Given the description of an element on the screen output the (x, y) to click on. 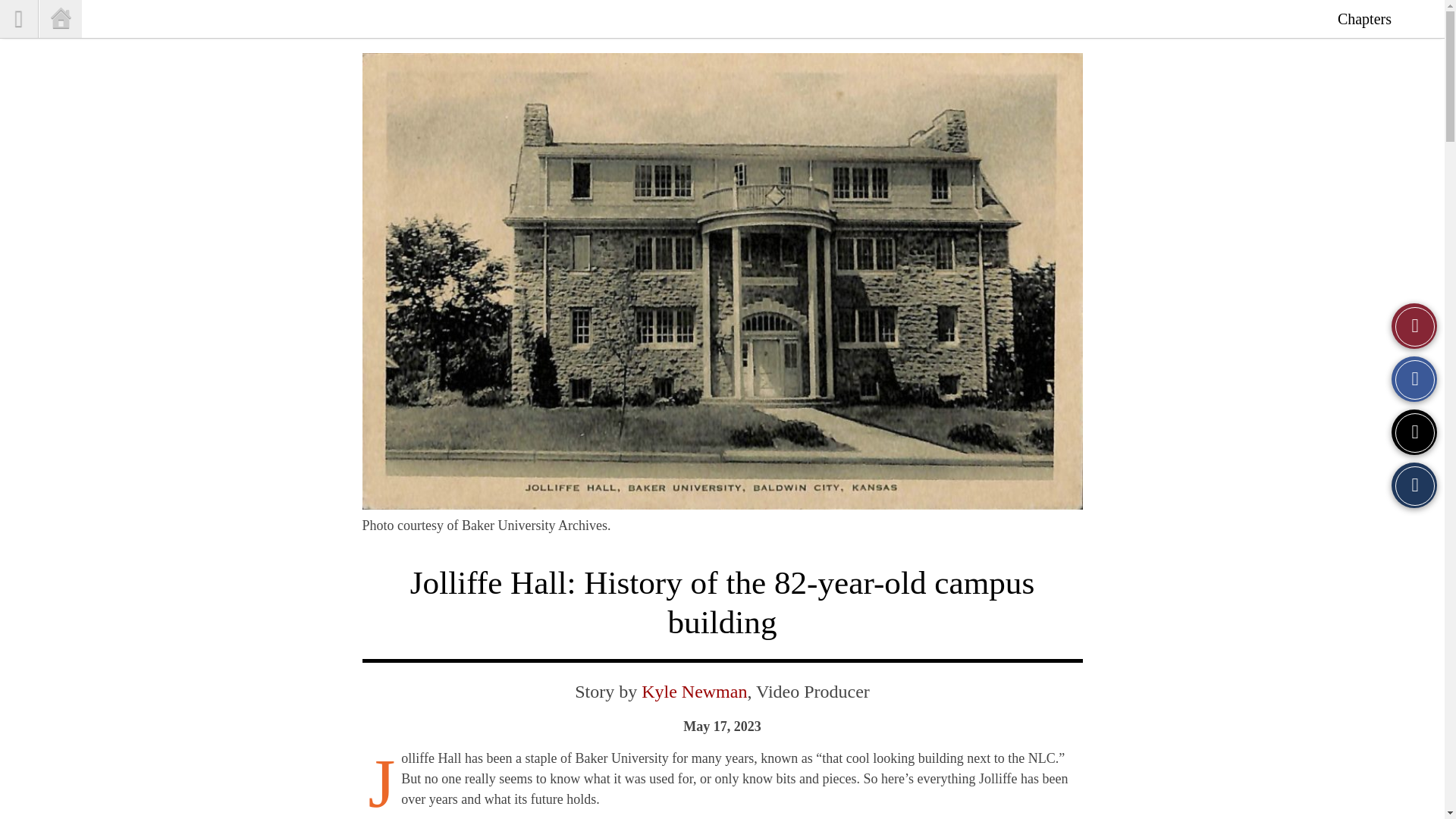
Share on Facebook (1414, 379)
Tweet This Story (1414, 432)
Kyle Newman (694, 690)
Email this Story (1414, 484)
Chapters (1364, 18)
